Given the description of an element on the screen output the (x, y) to click on. 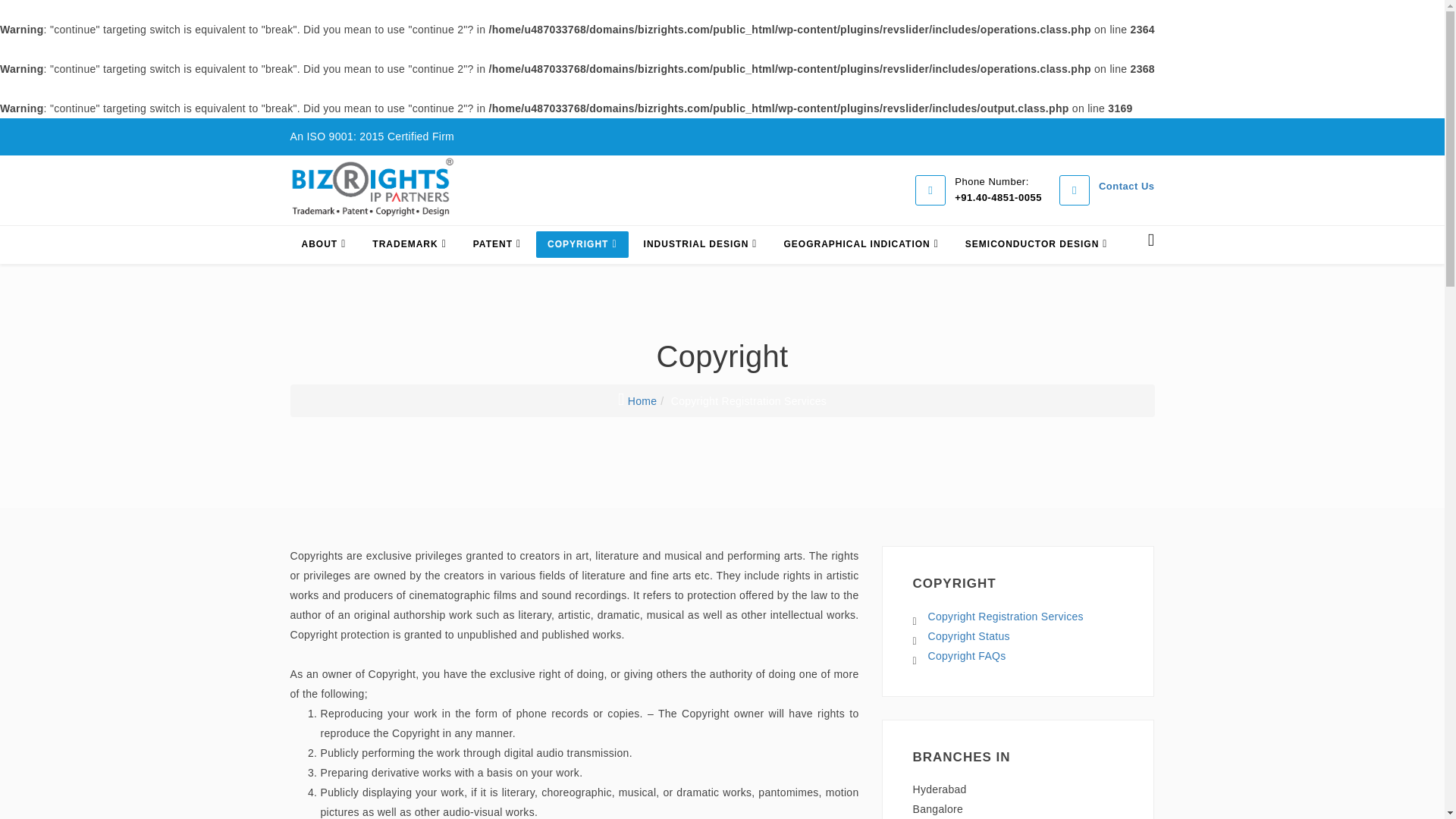
Patent (496, 243)
PATENT (496, 243)
INDUSTRIAL DESIGN (699, 243)
TRADEMARK (409, 243)
About (322, 243)
Contact Us (1126, 185)
ABOUT (322, 243)
COPYRIGHT (581, 243)
GEOGRAPHICAL INDICATION (860, 243)
Trademark (409, 243)
